Given the description of an element on the screen output the (x, y) to click on. 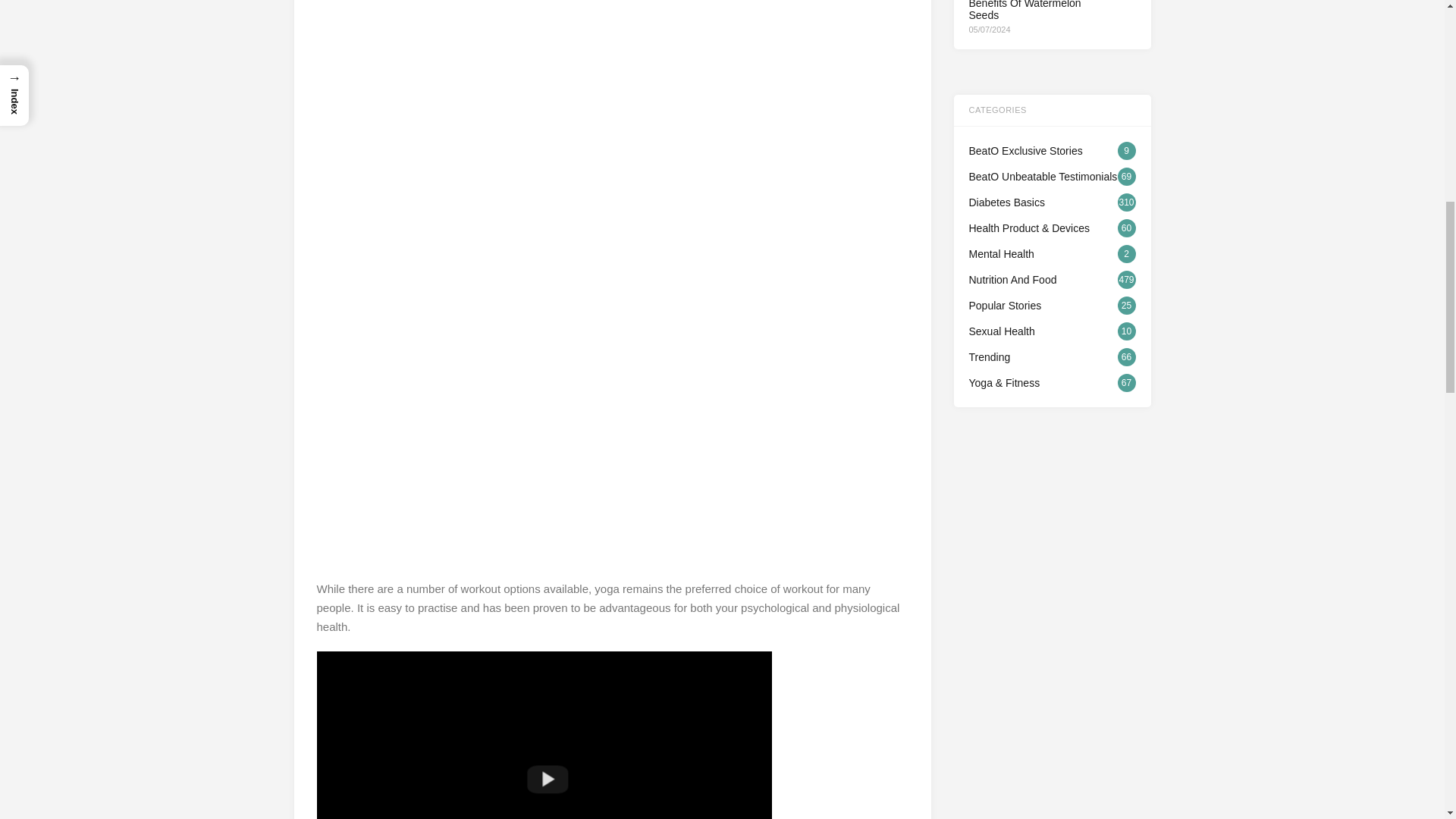
View all posts in BeatO Exclusive Stories (1052, 150)
View all posts in BeatO Unbeatable Testimonials (1052, 176)
View all posts in Diabetes Basics (1052, 202)
